Given the description of an element on the screen output the (x, y) to click on. 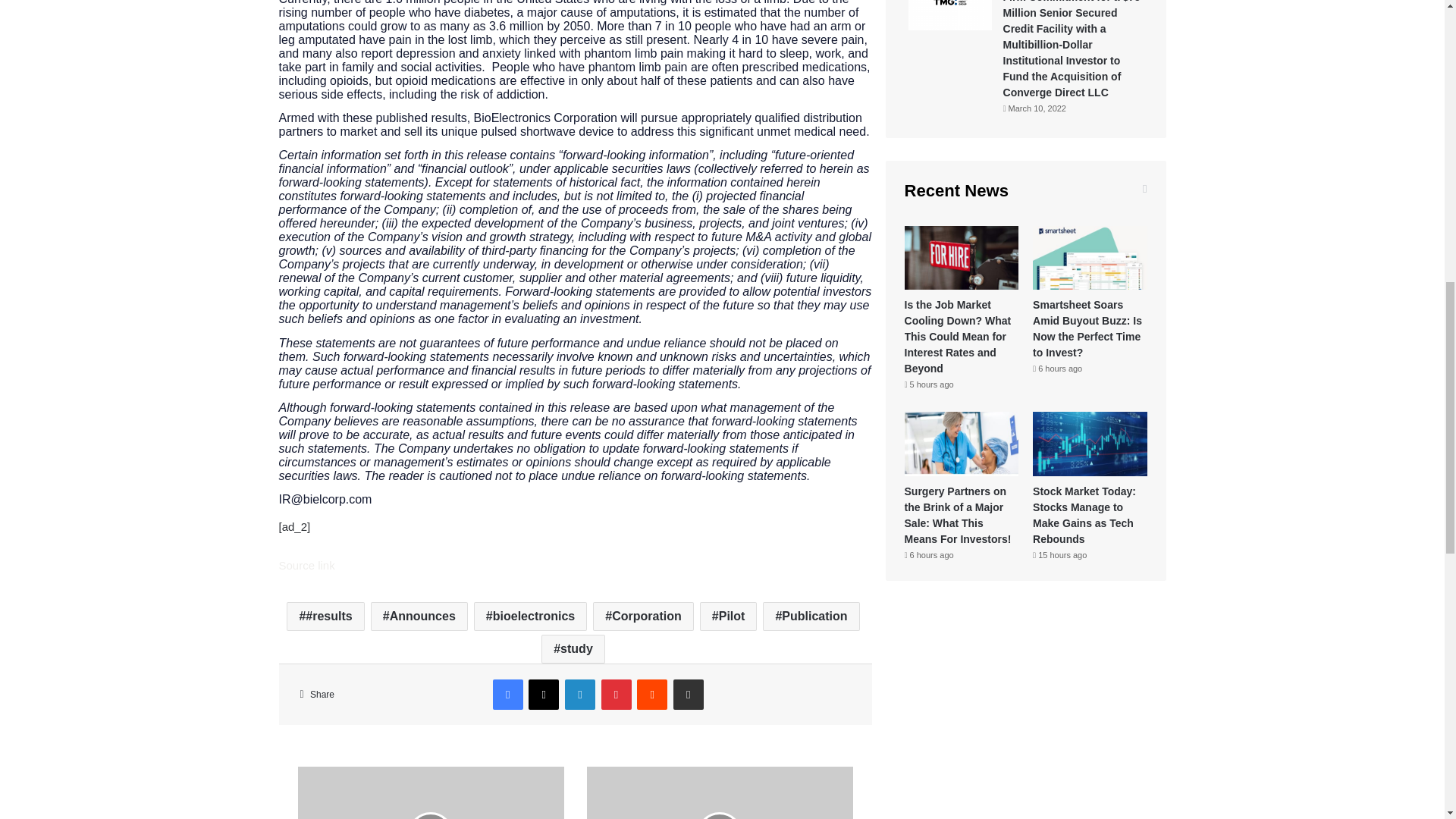
Pilot (728, 615)
Corporation (642, 615)
Source link (306, 564)
study (573, 648)
Publication (810, 615)
Facebook (507, 694)
X (543, 694)
Pinterest (616, 694)
Announces (419, 615)
bioelectronics (530, 615)
LinkedIn (579, 694)
